Given the description of an element on the screen output the (x, y) to click on. 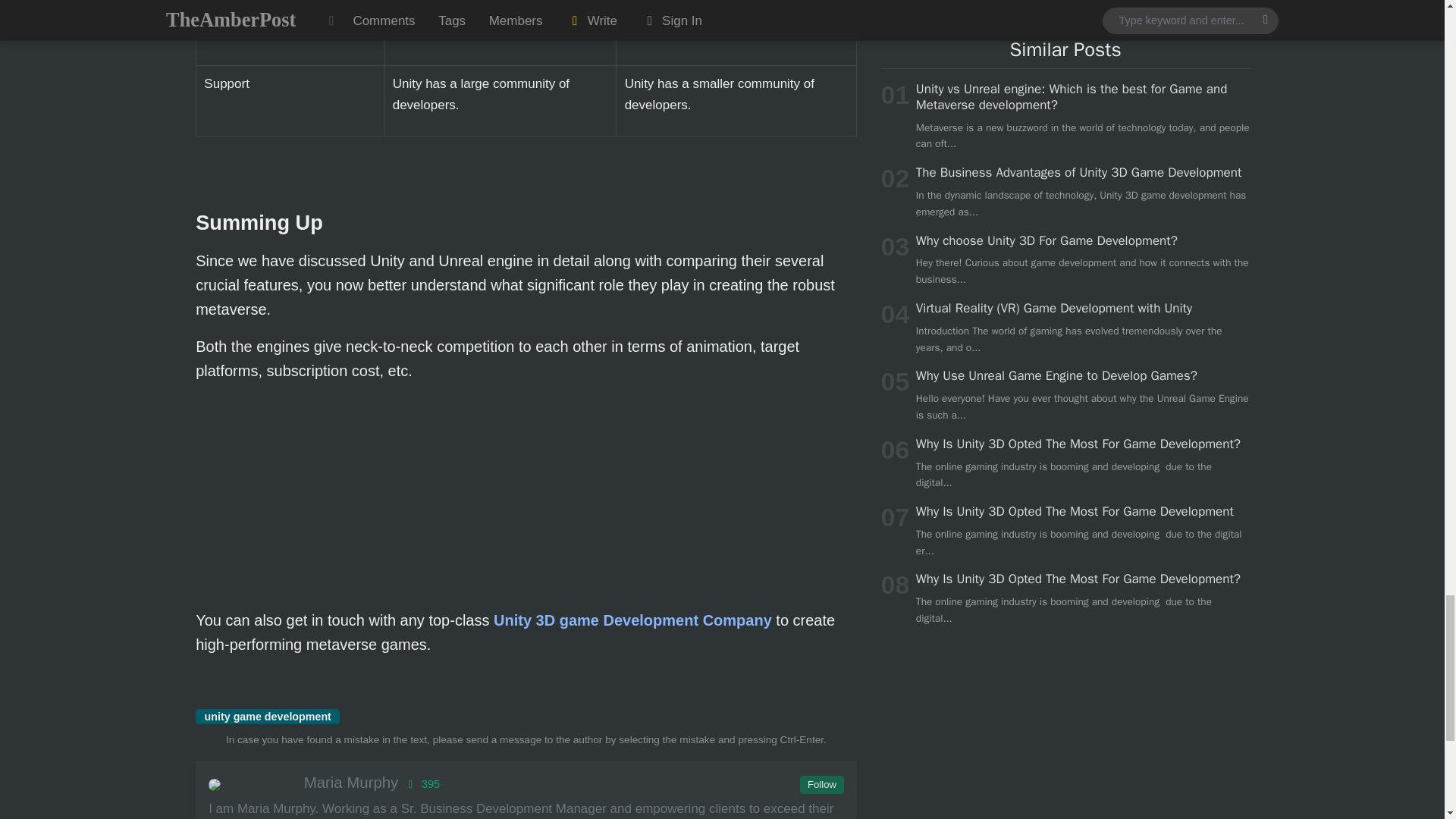
unity game development (267, 716)
Maria Murphy 395 (525, 782)
Follow (821, 784)
Unity 3D game Development Company (632, 619)
unity game development (267, 716)
Rating (421, 784)
